Given the description of an element on the screen output the (x, y) to click on. 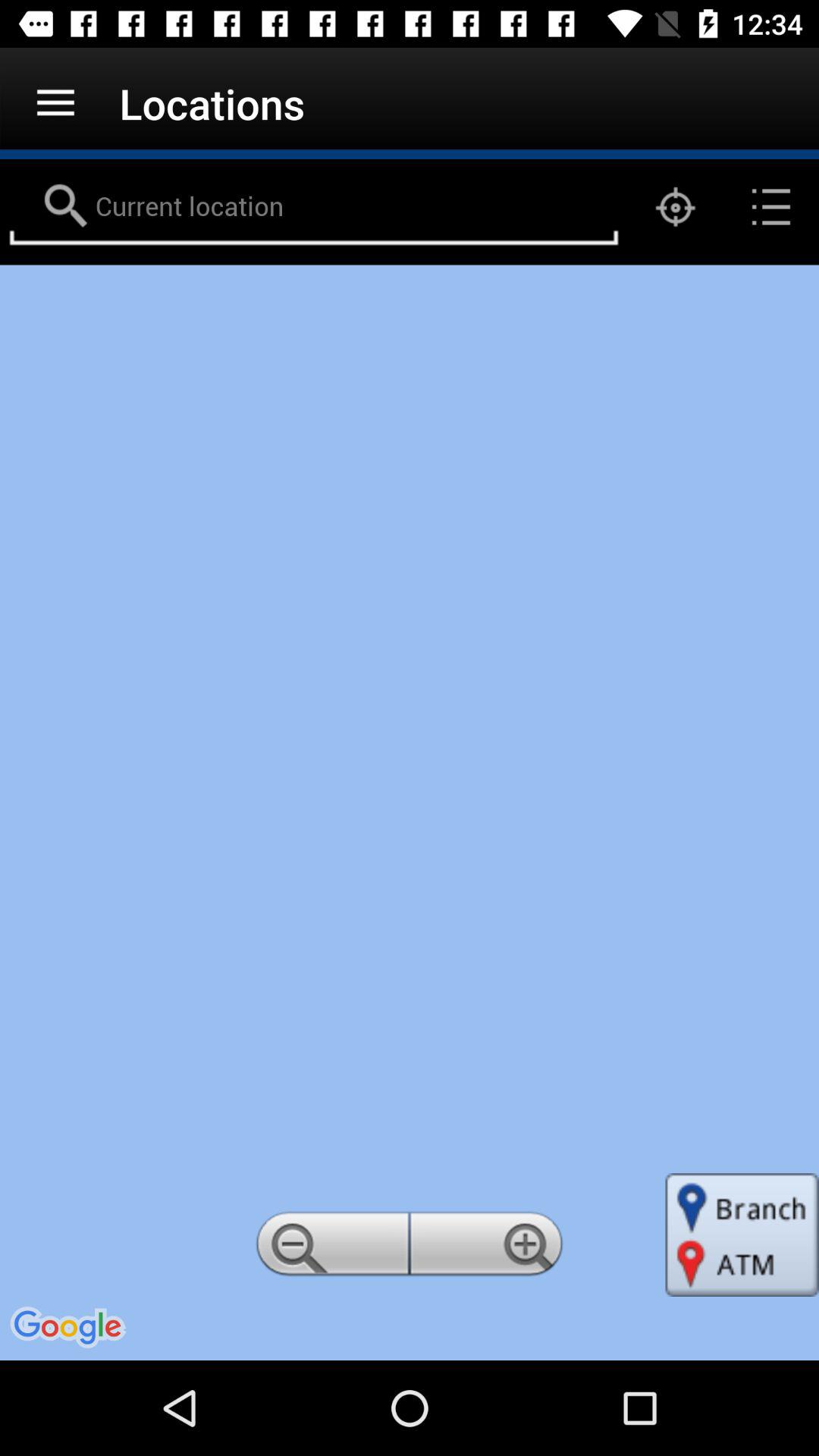
search for location (313, 206)
